Given the description of an element on the screen output the (x, y) to click on. 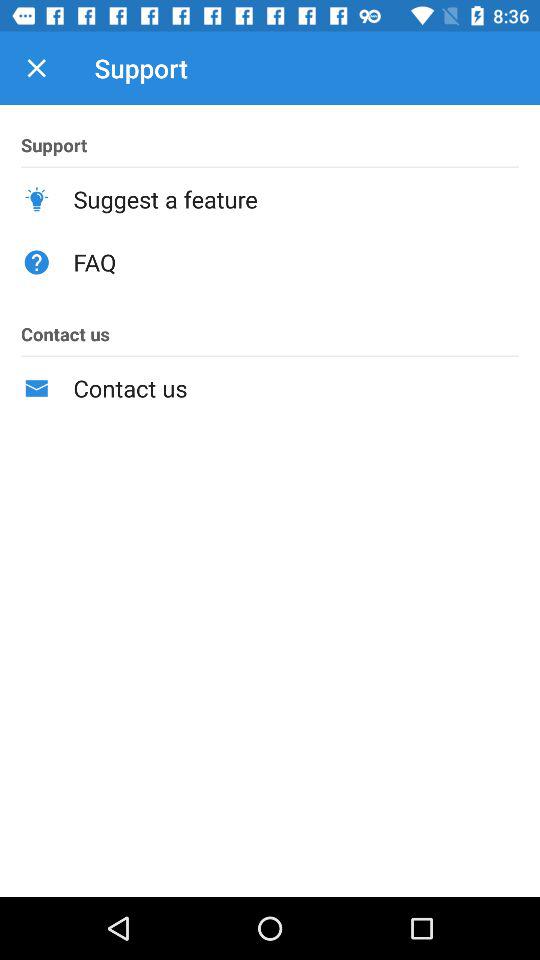
turn on faq icon (296, 262)
